Given the description of an element on the screen output the (x, y) to click on. 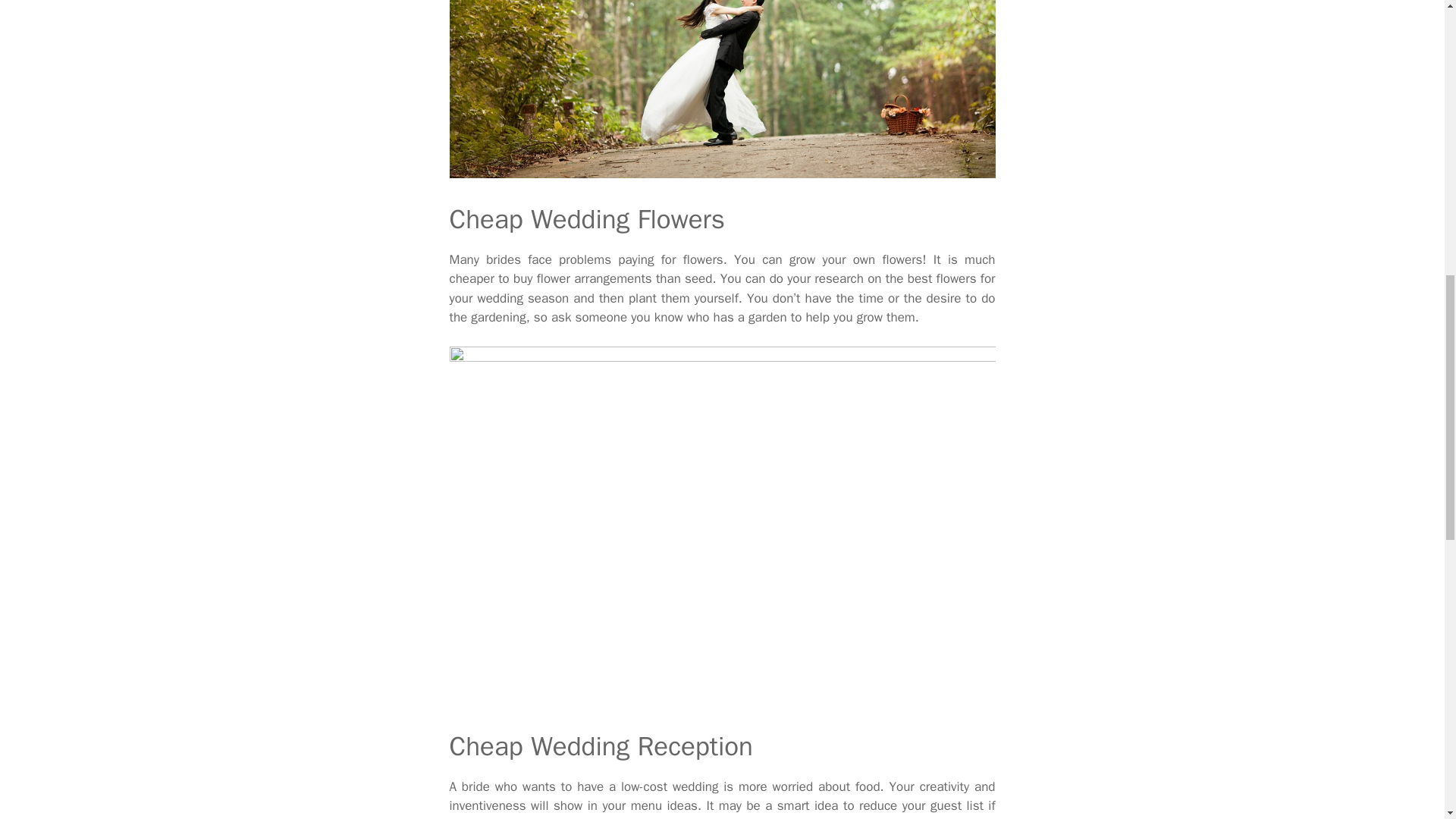
Scroll back to top (1406, 720)
